Given the description of an element on the screen output the (x, y) to click on. 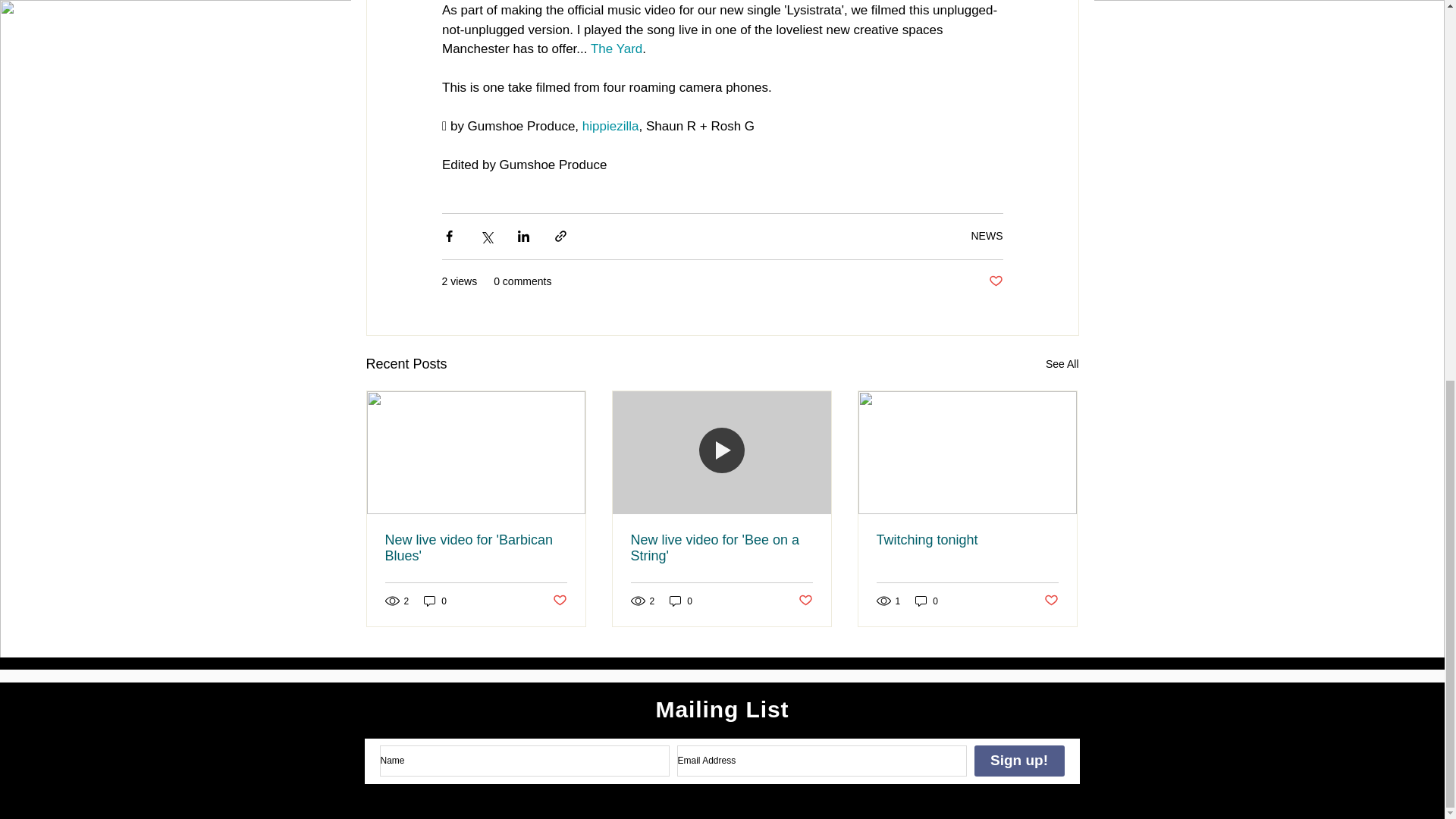
0 (926, 600)
Post not marked as liked (804, 600)
Post not marked as liked (558, 600)
See All (1061, 363)
0 (681, 600)
NEWS (987, 235)
hippiezilla (609, 125)
New live video for 'Bee on a String' (721, 548)
The Yard (615, 48)
Twitching tonight (967, 539)
